Given the description of an element on the screen output the (x, y) to click on. 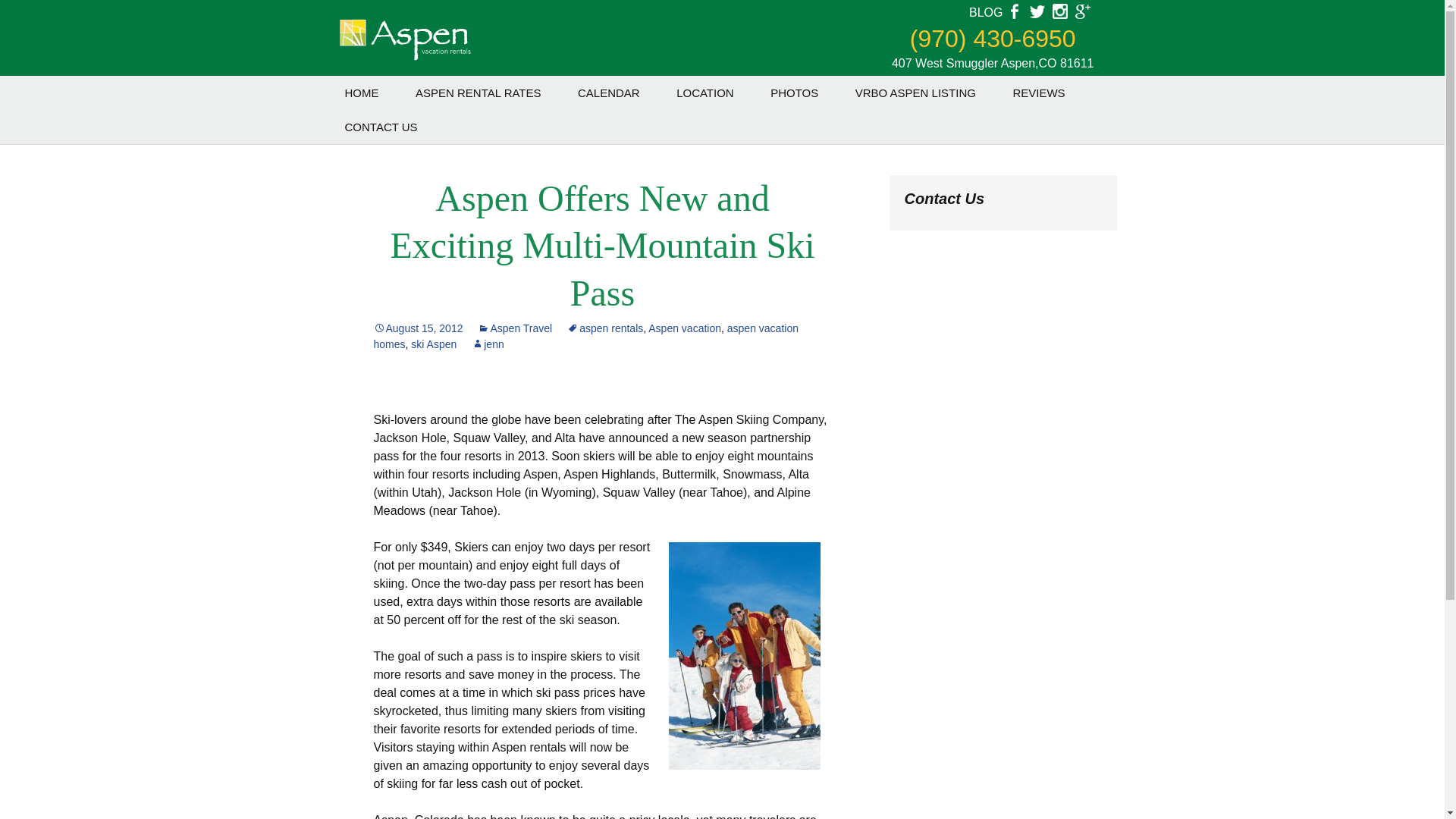
ski Aspen (433, 344)
VRBO ASPEN LISTING (915, 92)
aspen rentals (605, 328)
CONTACT US (380, 126)
View all posts by jenn (487, 344)
ASPEN RENTAL RATES (477, 92)
HOME (360, 92)
REVIEWS (1038, 92)
August 15, 2012 (417, 328)
Aspen vacation (683, 328)
